Given the description of an element on the screen output the (x, y) to click on. 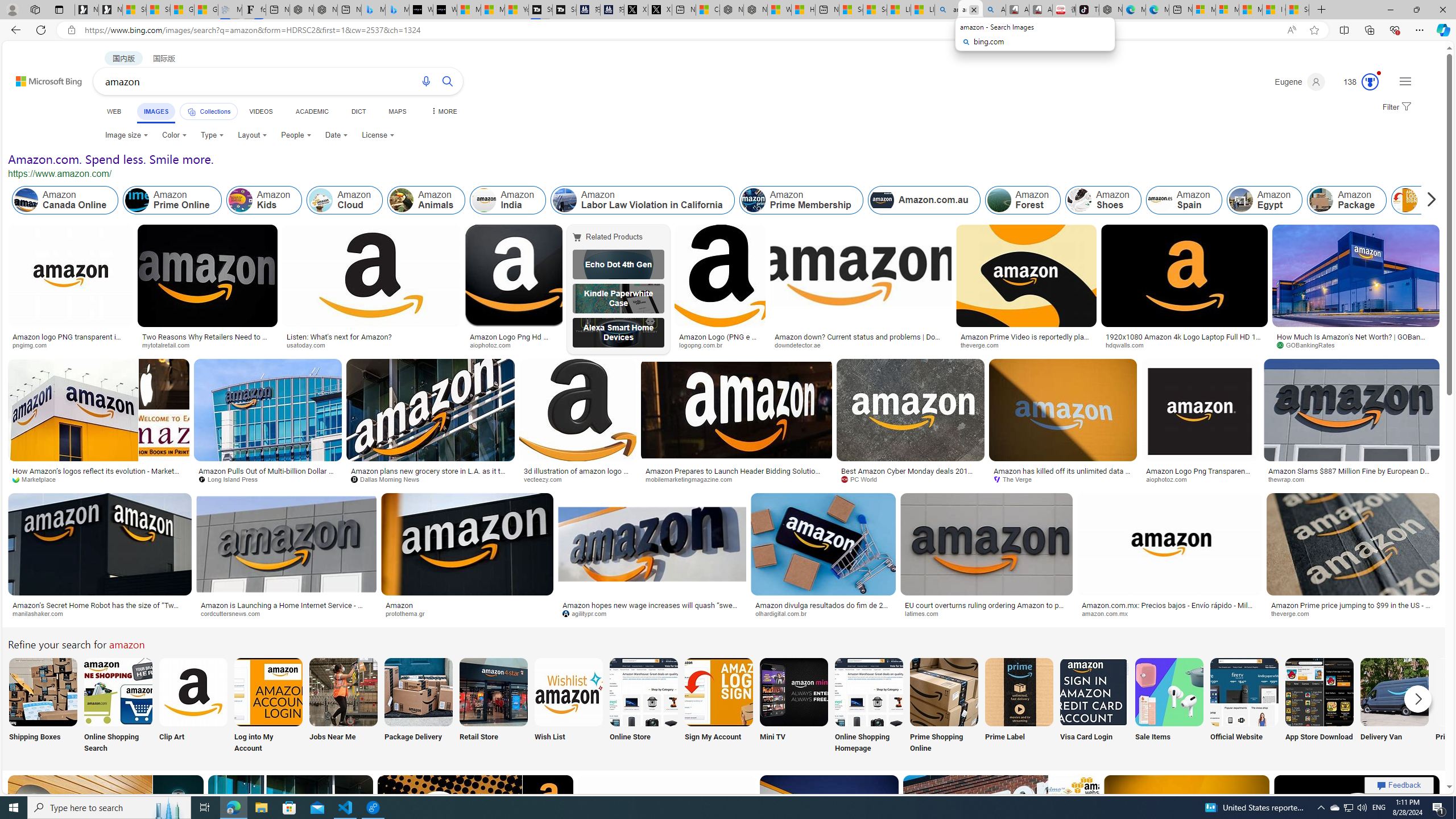
Amazon App Store Download App Store Download (1319, 706)
Amazon Forest (999, 200)
Amazon India (483, 200)
Sign My Account (718, 706)
usatoday.com (370, 344)
aiophotoz.com (1170, 479)
Amazon Clip Art Clip Art (192, 706)
Dropdown Menu (443, 111)
Amazon Egypt (1240, 200)
Online Shopping Homepage (868, 706)
Amazon Visa Card Login Visa Card Login (1093, 706)
